Given the description of an element on the screen output the (x, y) to click on. 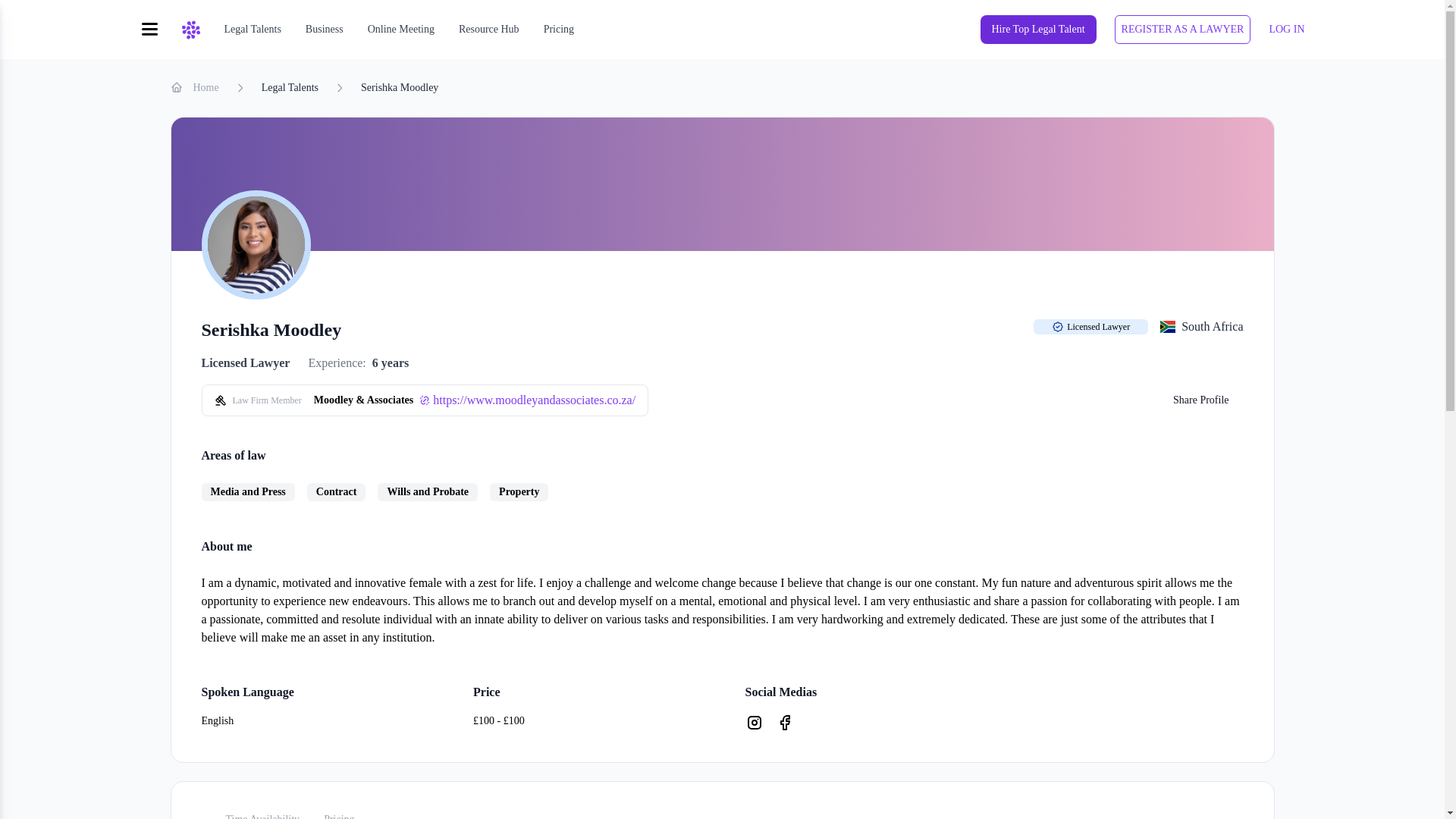
Hire Top Legal Talent (1037, 29)
Time Availability (263, 809)
Legal Talents (290, 87)
Home (194, 87)
LOG IN (1286, 29)
REGISTER AS A LAWYER (1182, 29)
Share Profile (1200, 400)
Pricing (338, 809)
Resource Hub (488, 29)
Online Meeting (400, 29)
Pricing (558, 29)
